Given the description of an element on the screen output the (x, y) to click on. 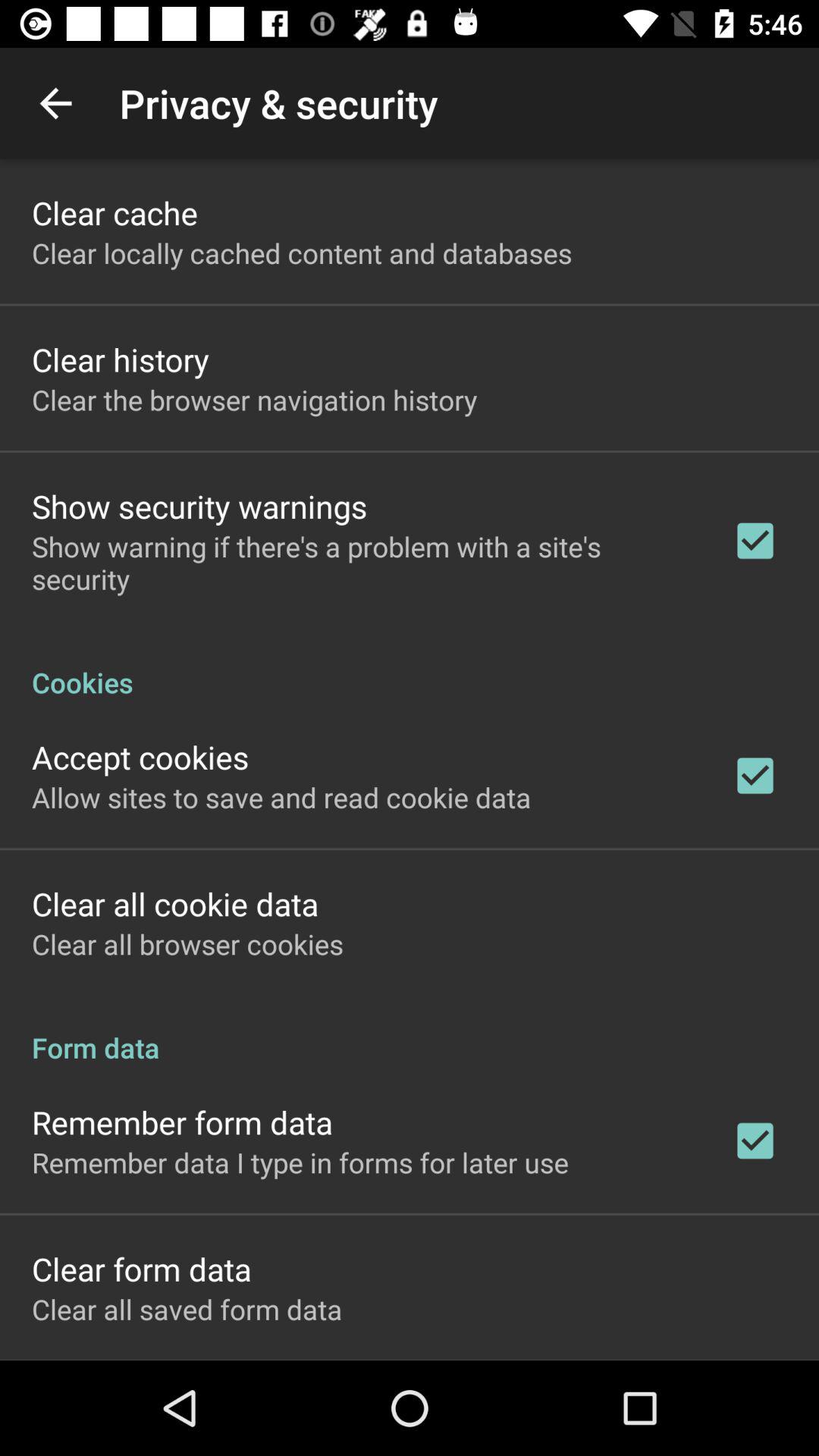
tap the icon above clear locally cached (114, 212)
